Given the description of an element on the screen output the (x, y) to click on. 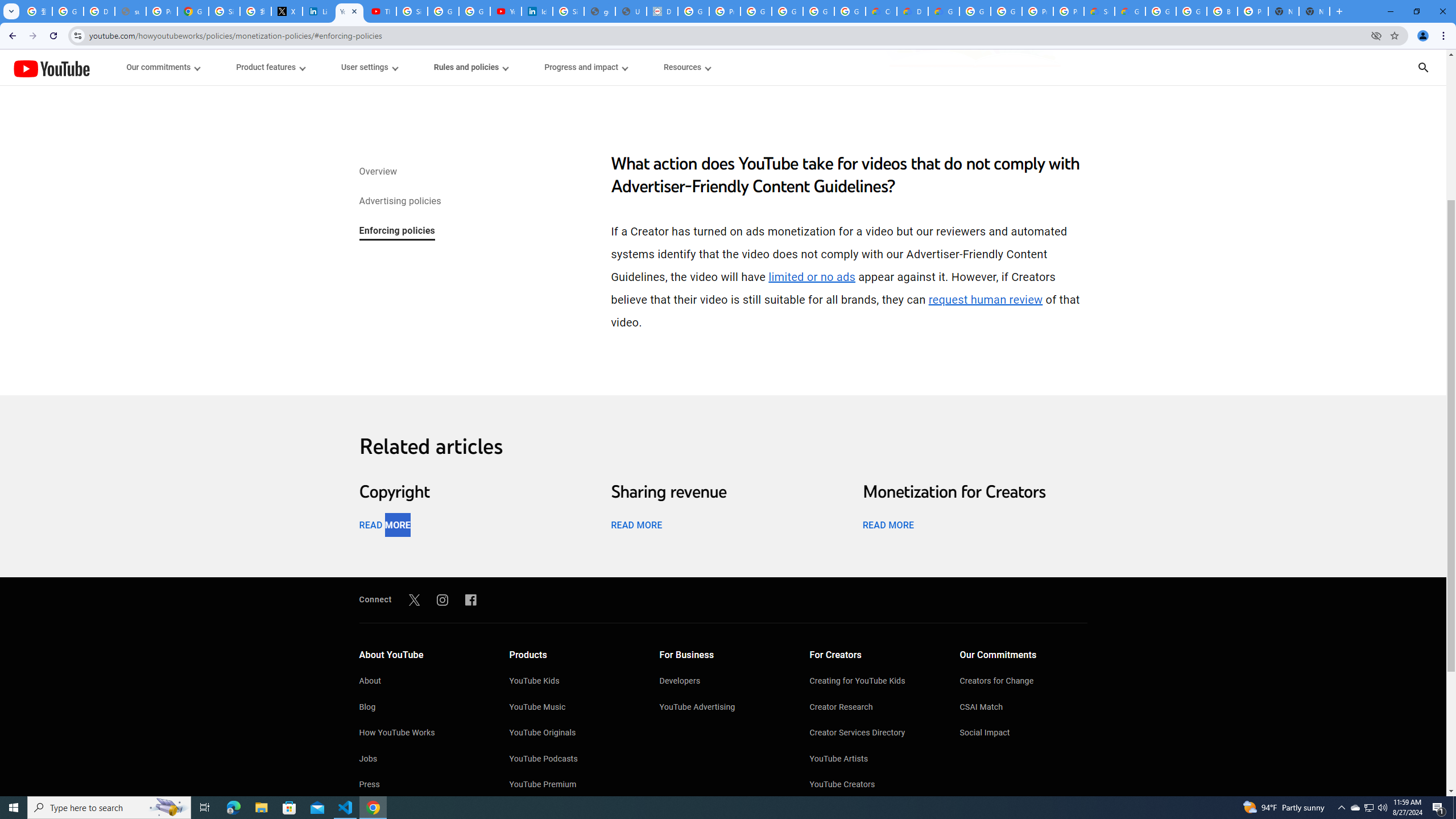
Jobs (422, 759)
About (422, 682)
Enforcing policies (396, 231)
limited or no ads (812, 277)
Developers (723, 682)
Creator Research (873, 708)
YouTube Music (573, 708)
